Given the description of an element on the screen output the (x, y) to click on. 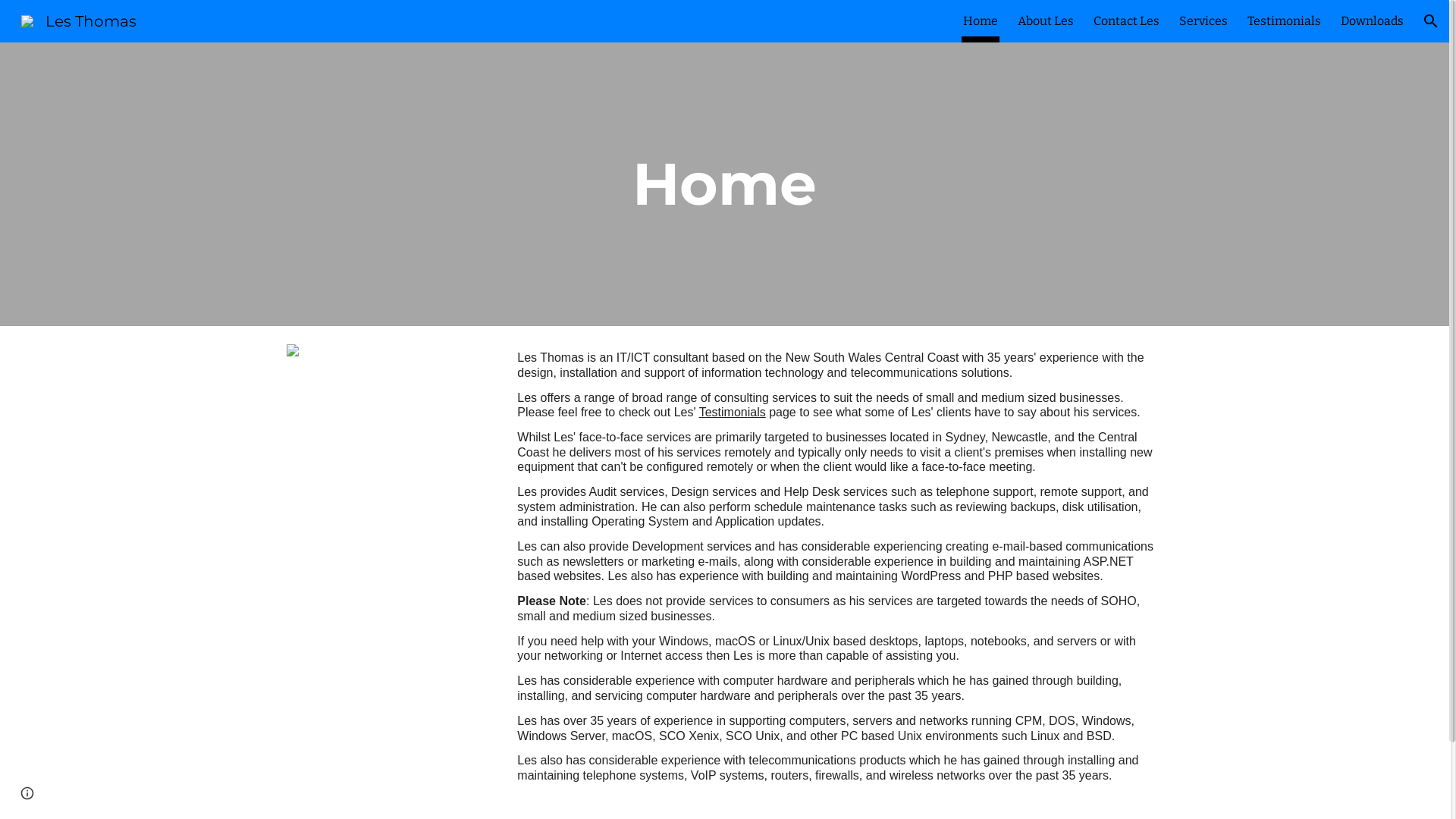
ials Element type: text (756, 411)
Downloads Element type: text (1371, 20)
Testimonials Element type: text (1284, 20)
Services Element type: text (1203, 20)
Home Element type: text (980, 20)
About Les Element type: text (1045, 20)
Testimon Element type: text (723, 411)
Contact Les Element type: text (1126, 20)
Les Thomas Element type: text (78, 19)
